Given the description of an element on the screen output the (x, y) to click on. 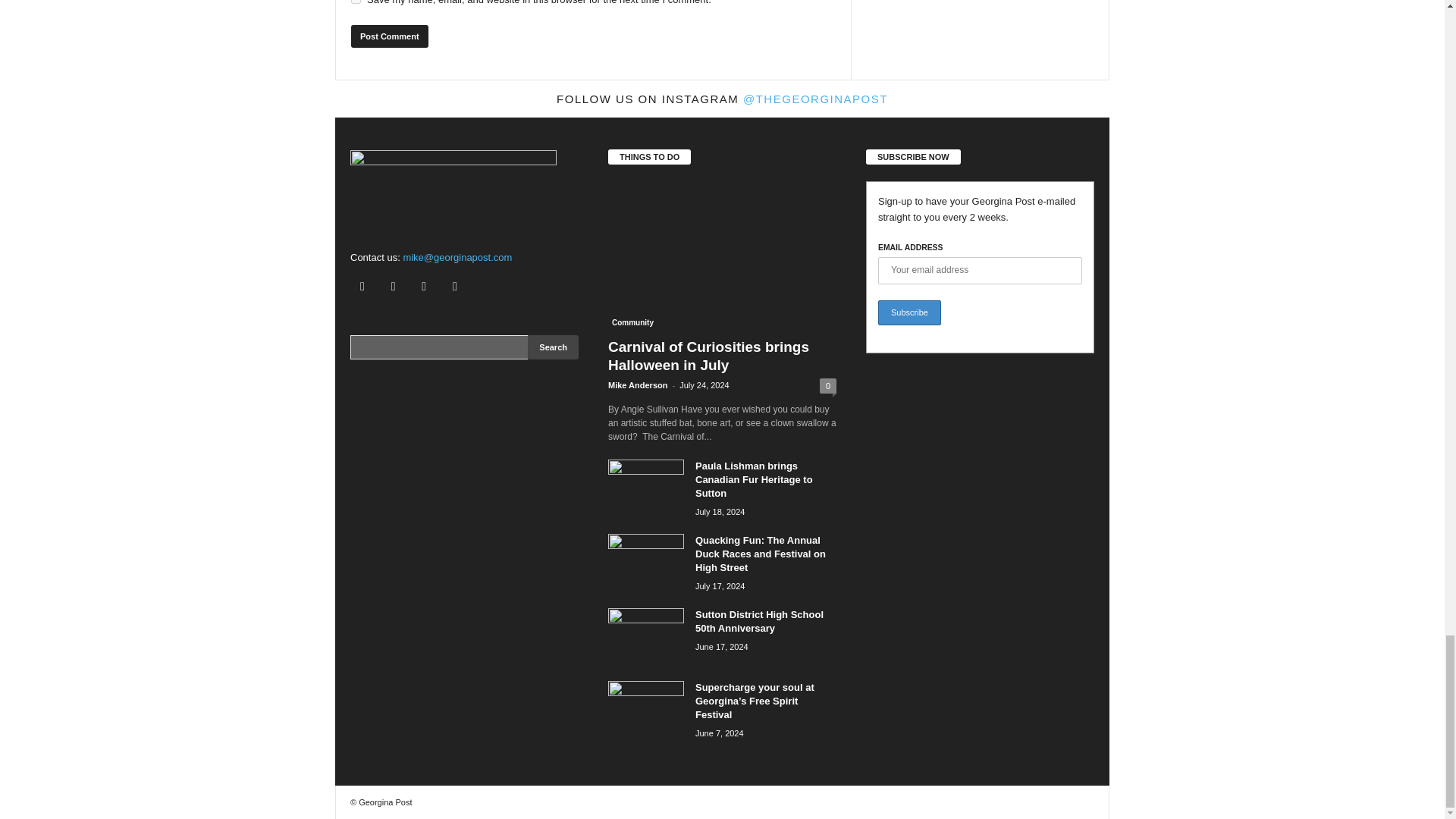
Search (552, 346)
Post Comment (389, 36)
Subscribe (908, 312)
yes (355, 2)
